Given the description of an element on the screen output the (x, y) to click on. 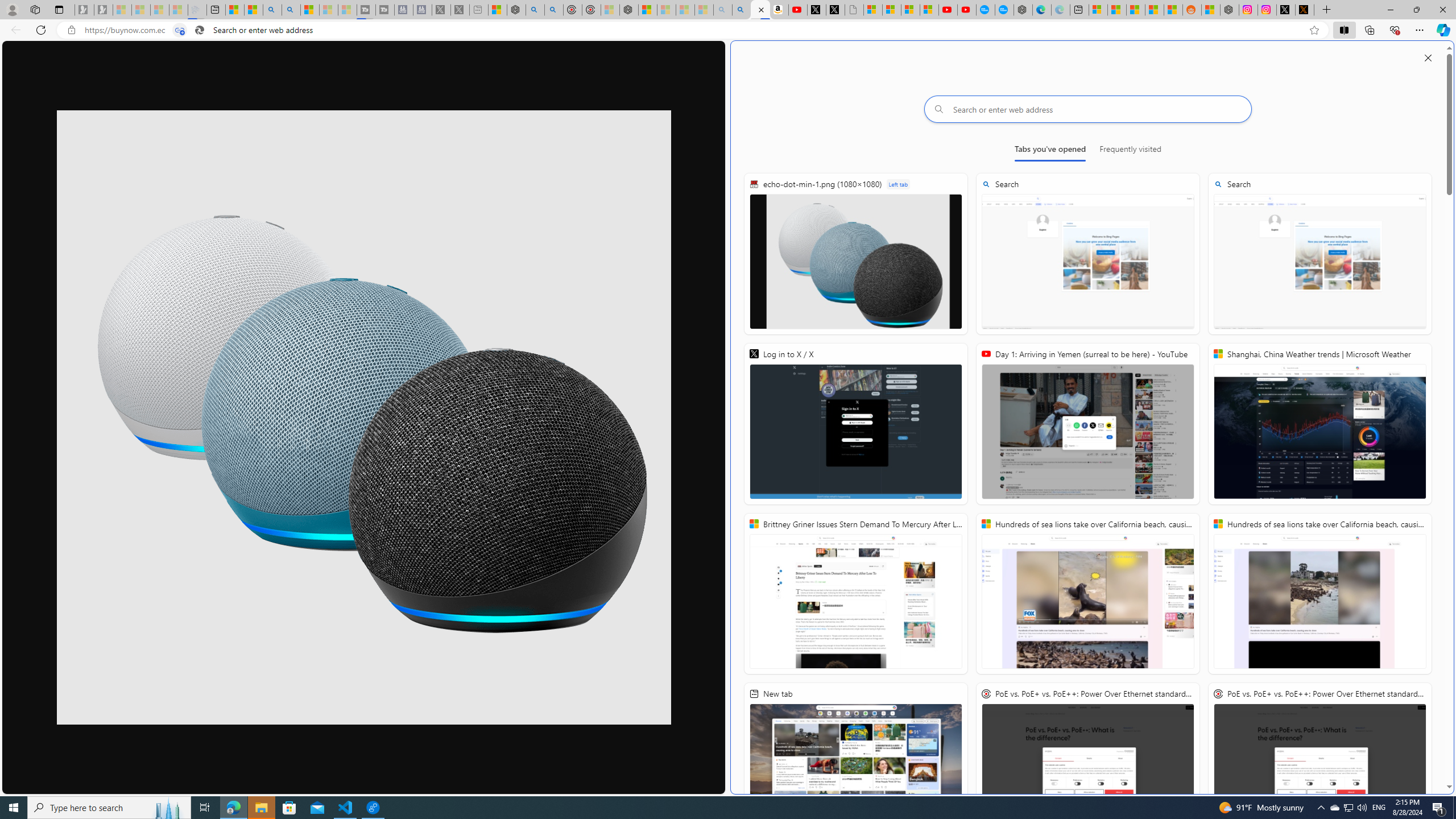
Wildlife - MSN (497, 9)
Copilot (Ctrl+Shift+.) (1442, 29)
Gloom - YouTube (947, 9)
Browser essentials (1394, 29)
Shanghai, China hourly forecast | Microsoft Weather (1135, 9)
New Tab (1327, 9)
Settings and more (Alt+F) (1419, 29)
